Given the description of an element on the screen output the (x, y) to click on. 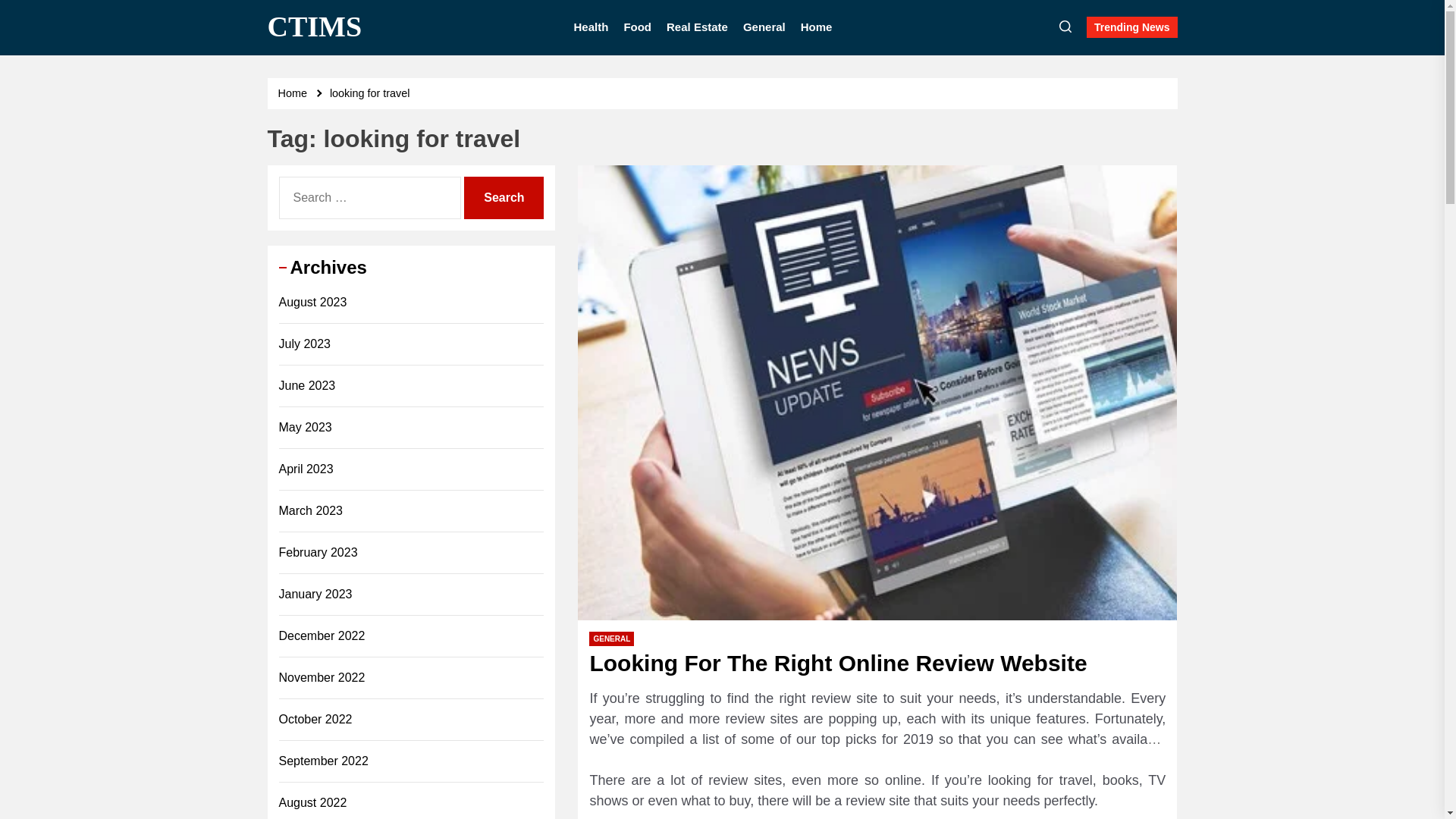
General (764, 27)
Home (294, 92)
Trending News (1131, 26)
Looking For The Right Online Review Website (837, 662)
CTIMS (313, 27)
Real Estate (697, 27)
Search (503, 197)
Search (503, 197)
